Given the description of an element on the screen output the (x, y) to click on. 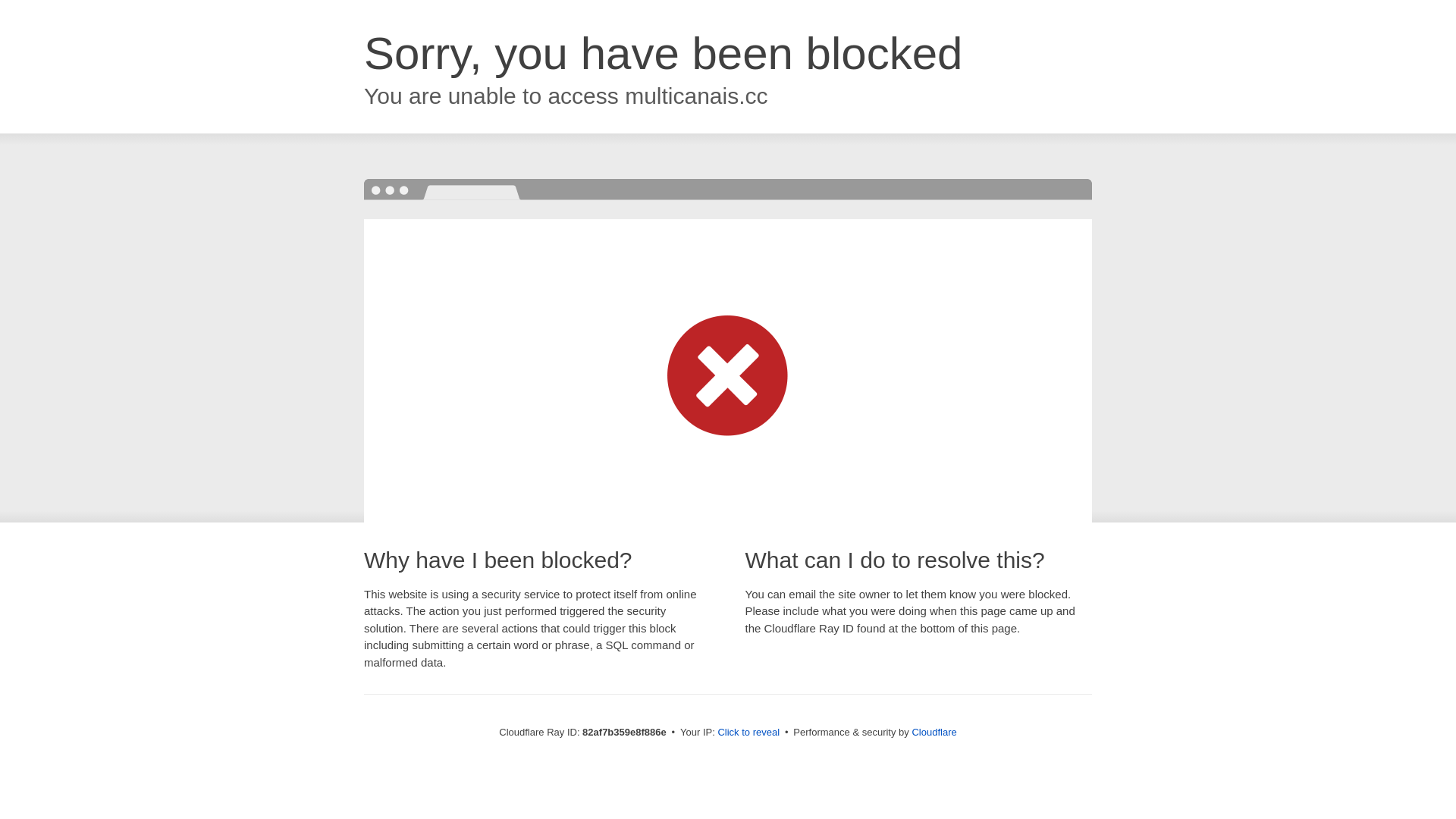
Click to reveal Element type: text (748, 732)
Cloudflare Element type: text (933, 731)
